Given the description of an element on the screen output the (x, y) to click on. 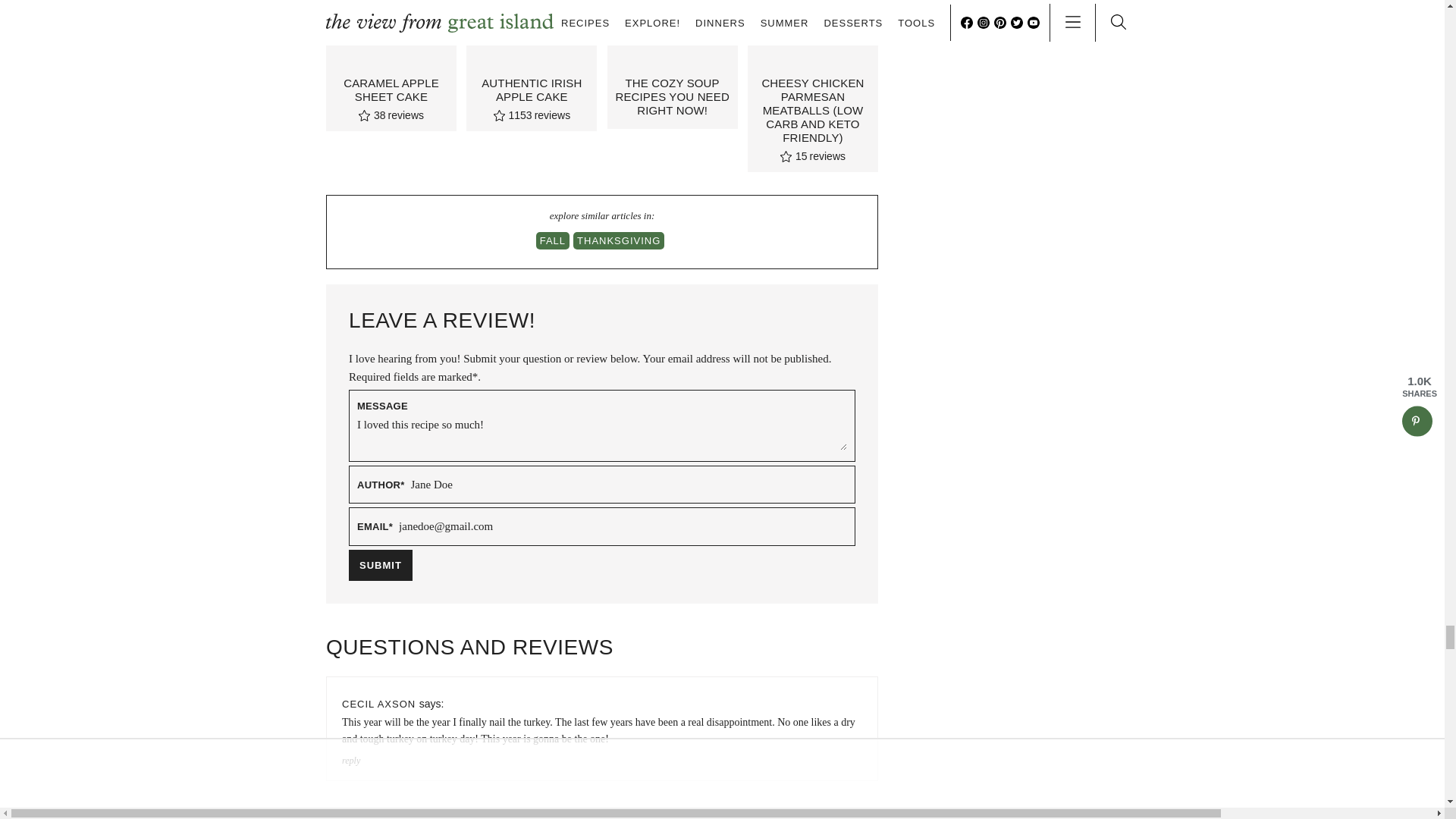
Submit (380, 564)
